Given the description of an element on the screen output the (x, y) to click on. 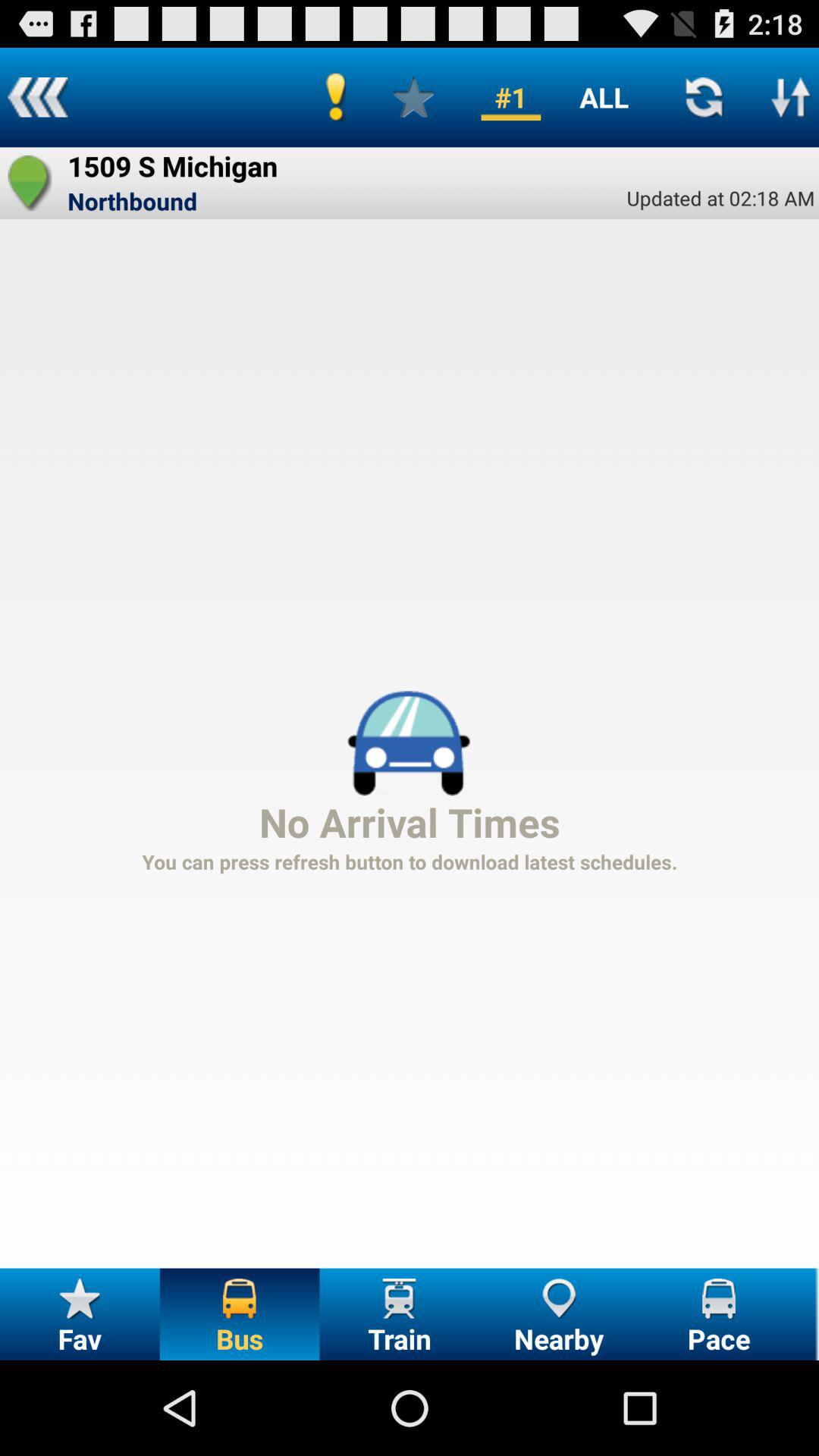
go back (37, 97)
